Given the description of an element on the screen output the (x, y) to click on. 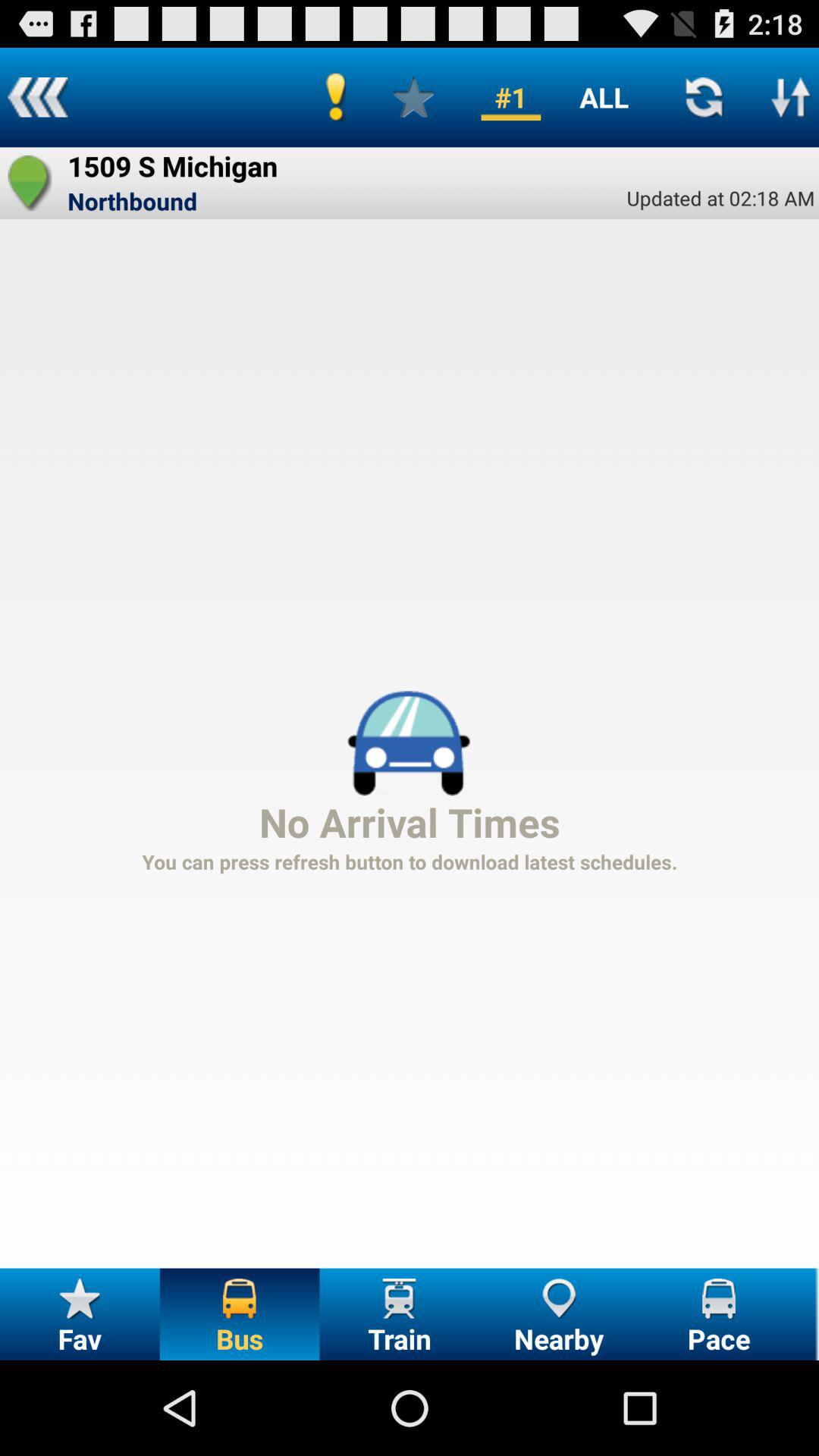
go back (37, 97)
